Given the description of an element on the screen output the (x, y) to click on. 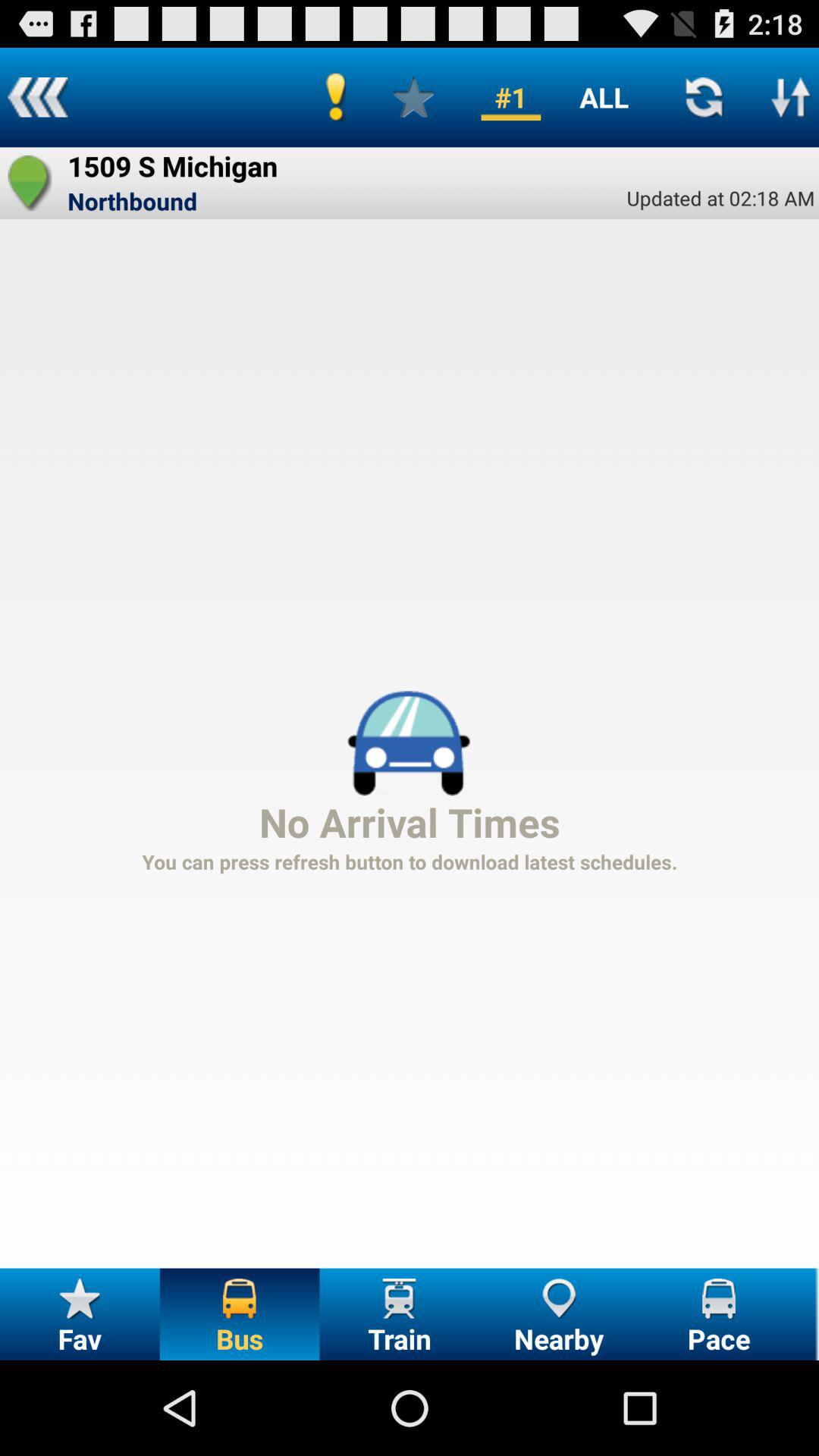
go back (37, 97)
